Given the description of an element on the screen output the (x, y) to click on. 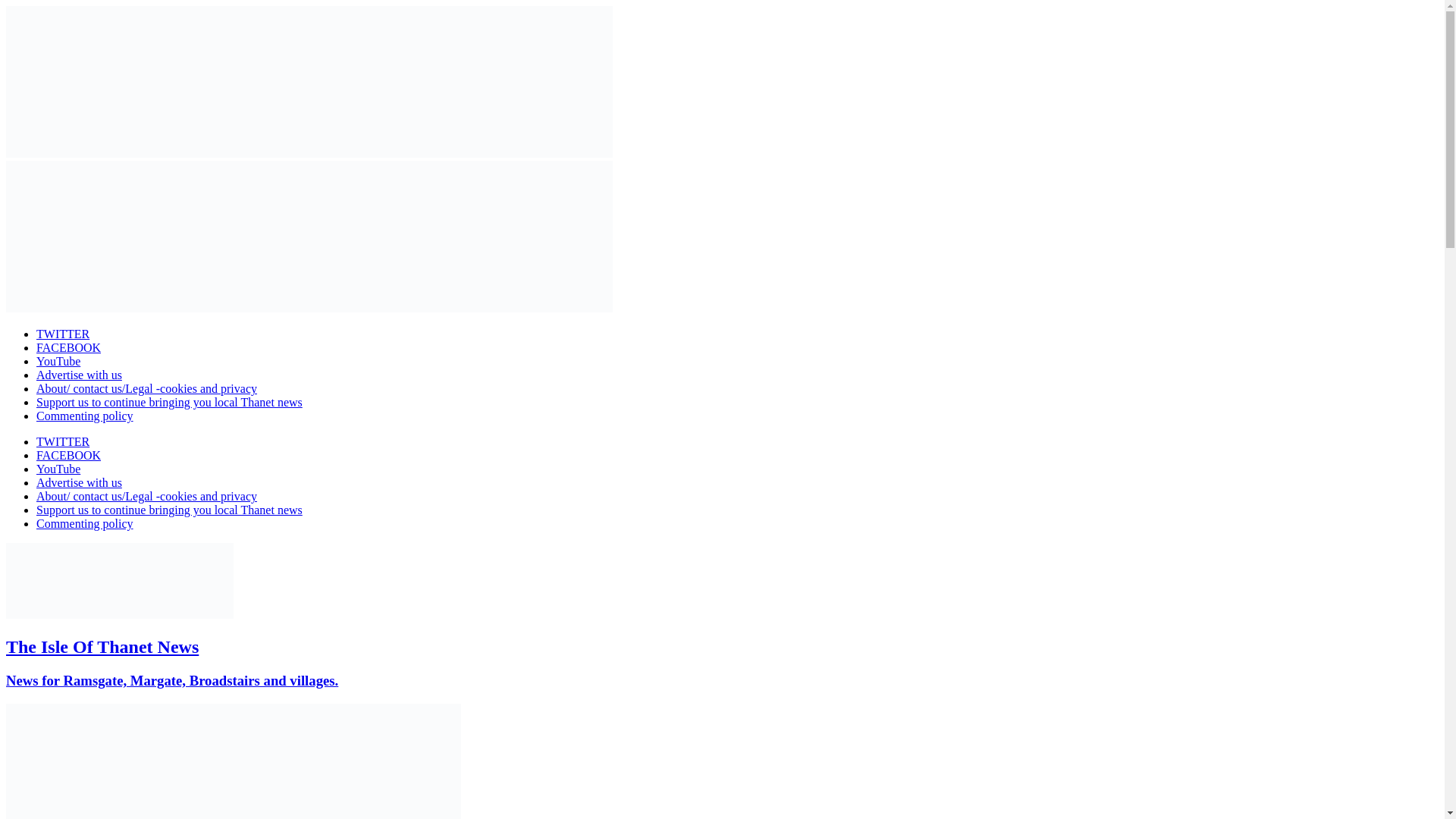
Advertise with us (79, 481)
TWITTER (62, 440)
Support us to continue bringing you local Thanet news (169, 509)
FACEBOOK (68, 347)
Advertise with us (79, 374)
Commenting policy (84, 415)
Commenting policy (84, 522)
YouTube (58, 468)
YouTube (58, 360)
Support us to continue bringing you local Thanet news (169, 401)
FACEBOOK (68, 454)
TWITTER (62, 333)
